Given the description of an element on the screen output the (x, y) to click on. 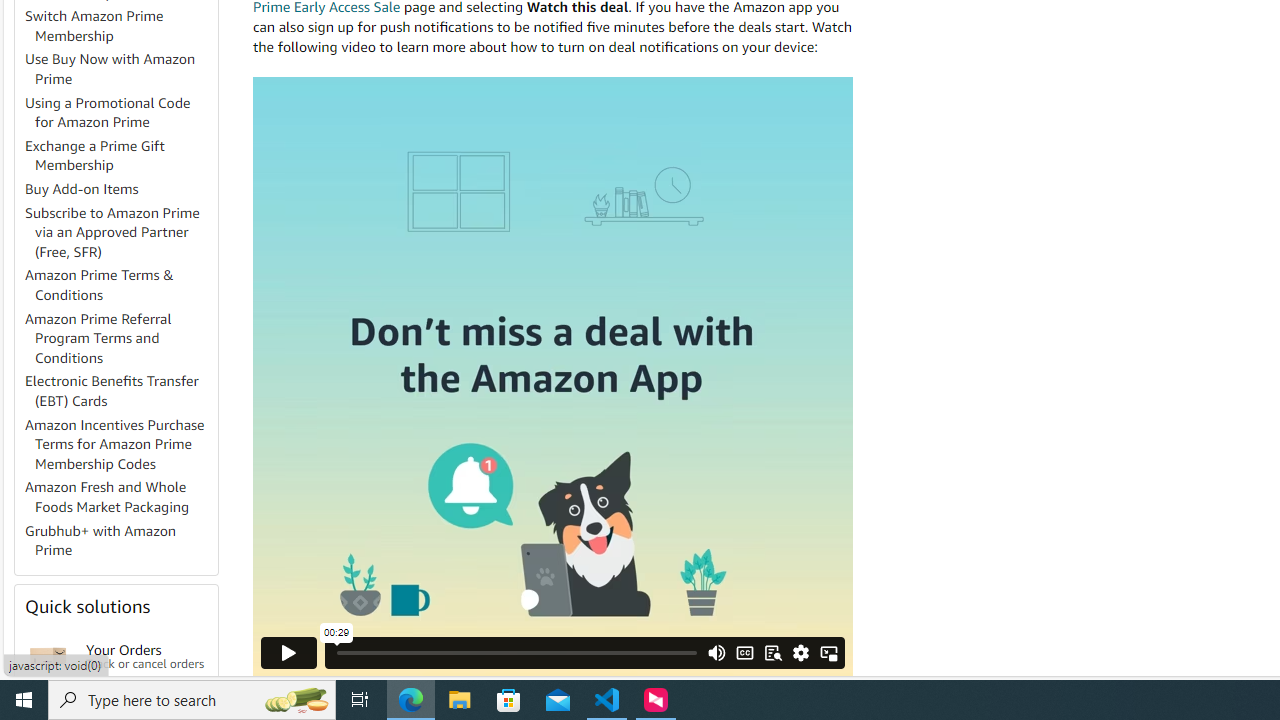
Amazon Prime Referral Program Terms and Conditions (98, 337)
Use Buy Now with Amazon Prime (120, 69)
Electronic Benefits Transfer (EBT) Cards (120, 391)
Picture-in-Picture (828, 652)
Use Buy Now with Amazon Prime (110, 69)
Switch Amazon Prime Membership (94, 25)
Play (289, 651)
Amazon Fresh and Whole Foods Market Packaging (107, 497)
Buy Add-on Items (82, 189)
CC/Subtitles (744, 652)
Amazon Prime Terms & Conditions (99, 284)
Grubhub+ with Amazon Prime (100, 540)
